Given the description of an element on the screen output the (x, y) to click on. 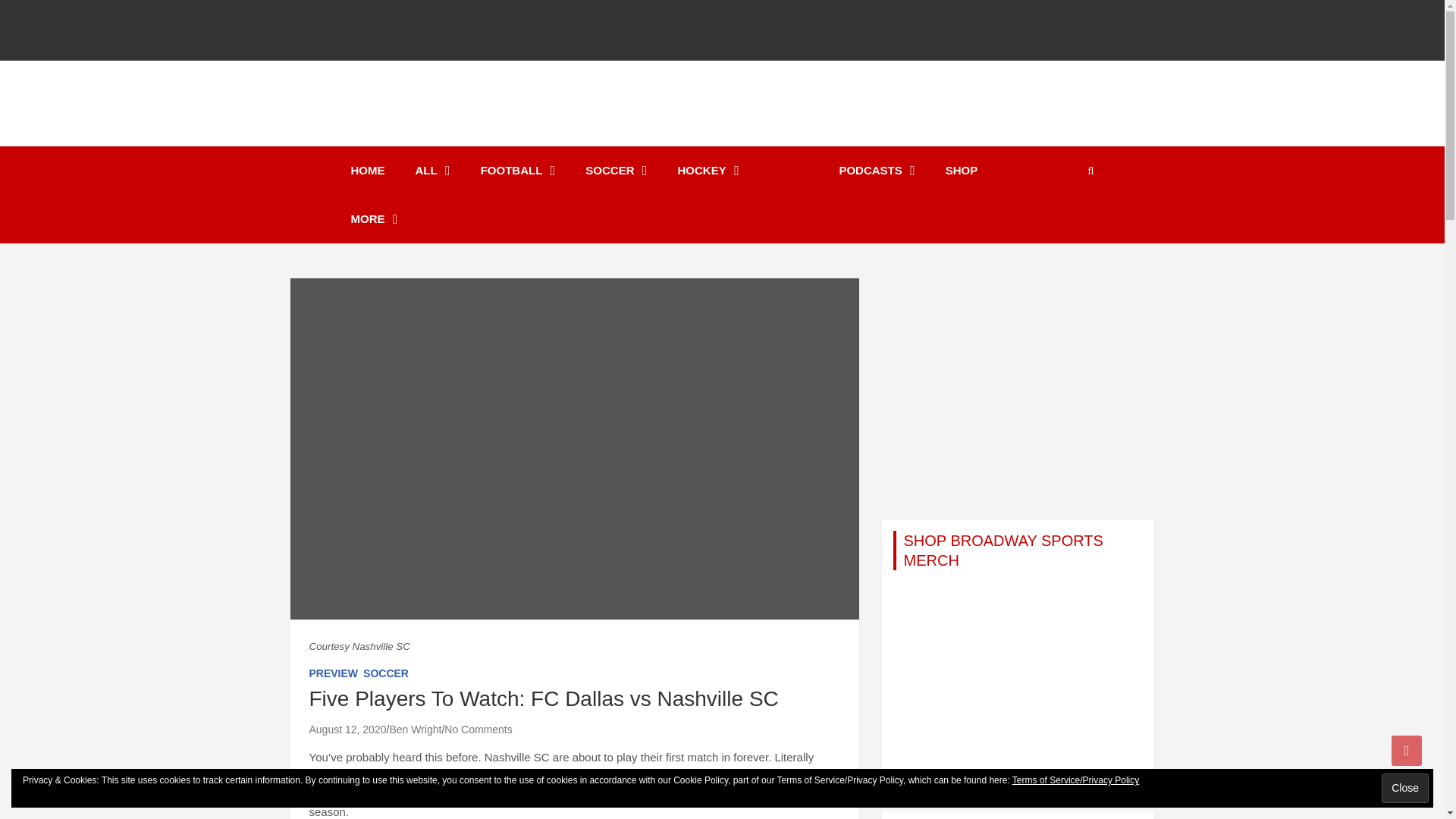
Close (1404, 788)
Go to Top (1406, 750)
HOME (366, 170)
FOOTBALL (517, 170)
ALL (432, 170)
Five Players To Watch: FC Dallas vs Nashville SC (347, 729)
